Given the description of an element on the screen output the (x, y) to click on. 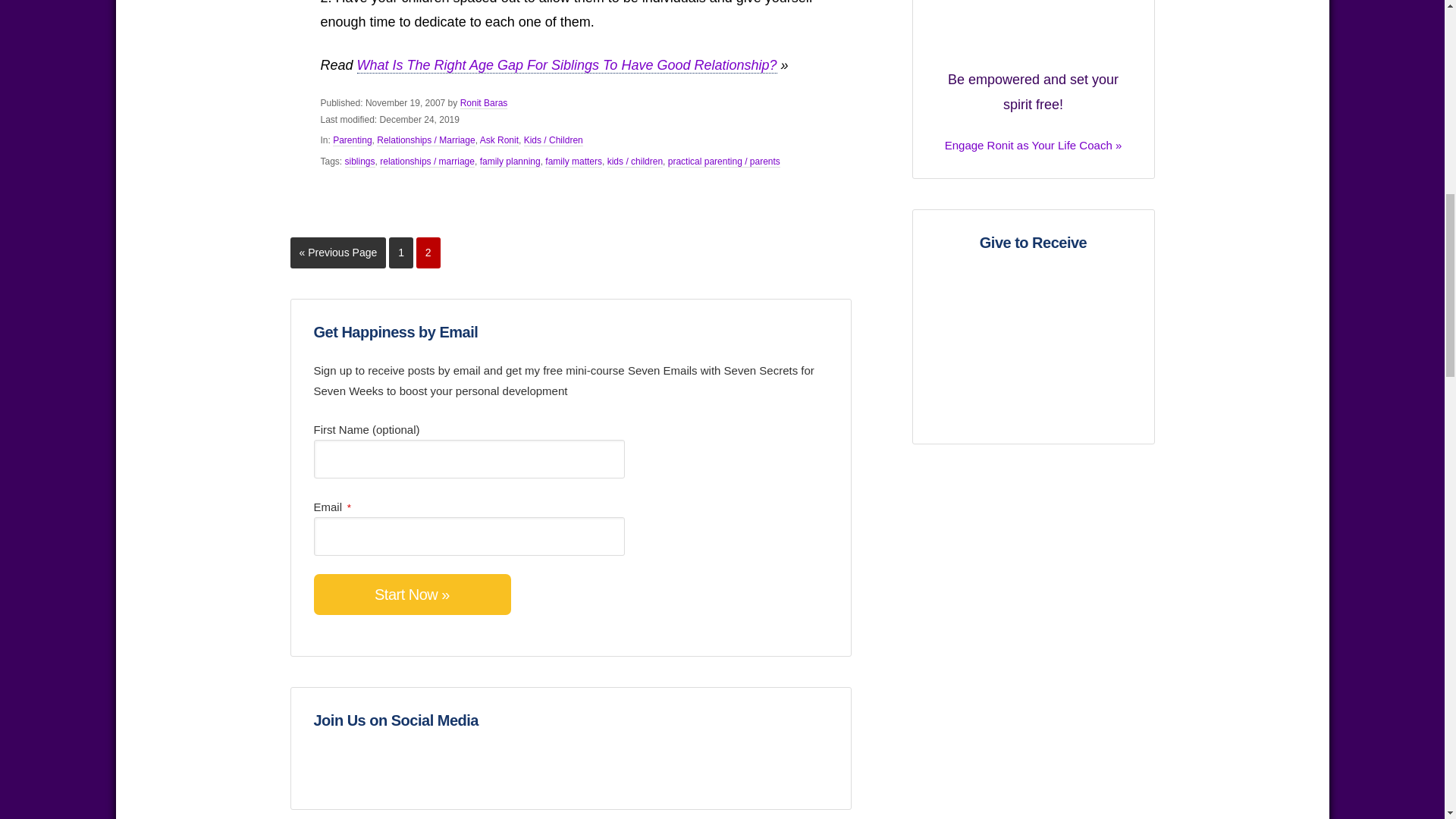
Ronit Baras (428, 252)
siblings (484, 102)
family planning (360, 161)
Be Happy in LIFE coaching (510, 161)
Parenting (1033, 79)
Ask Ronit (400, 252)
family matters (352, 140)
